Given the description of an element on the screen output the (x, y) to click on. 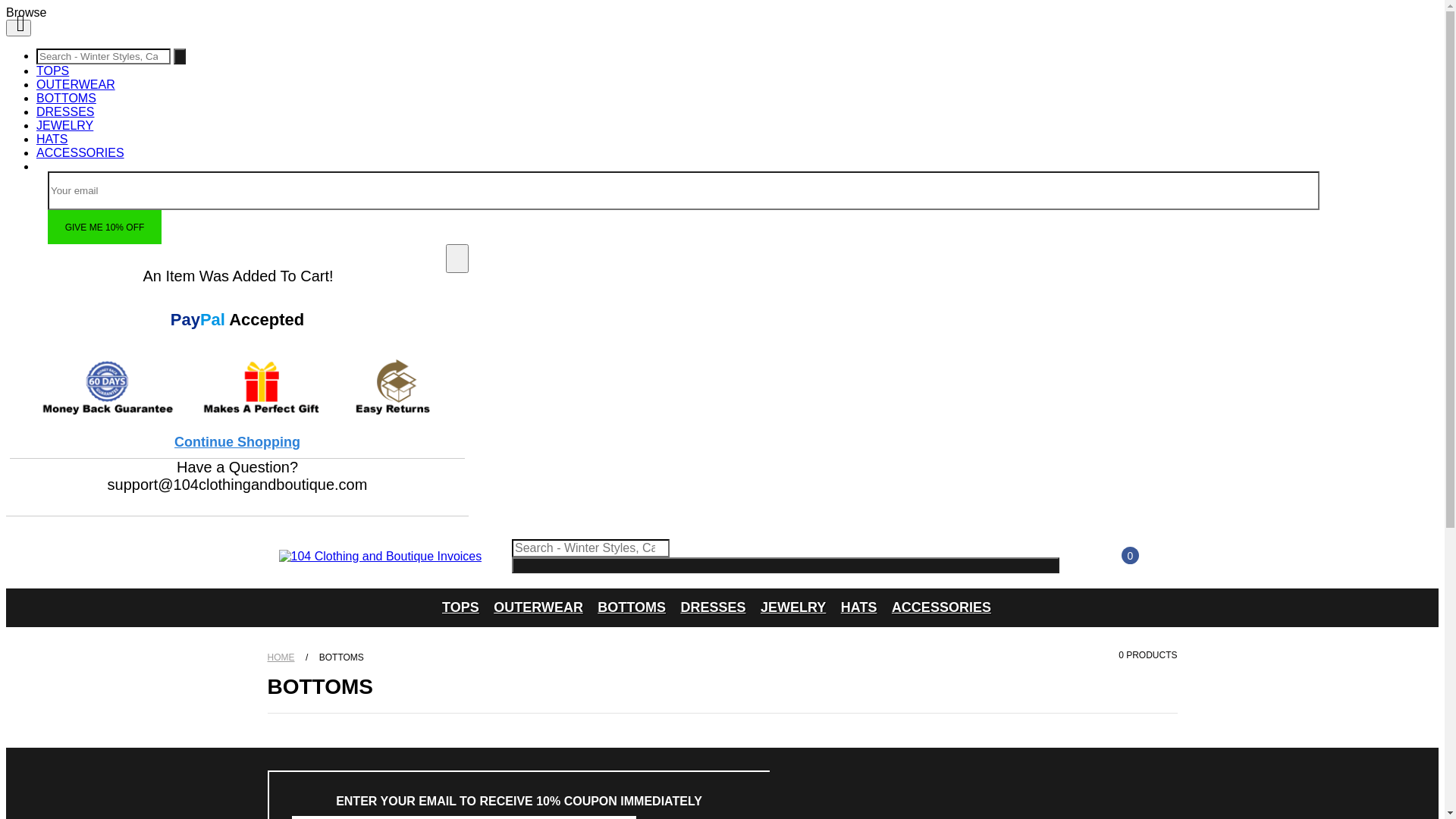
OUTERWEAR Element type: text (75, 84)
Close menu Element type: text (18, 27)
HOME Element type: text (282, 657)
DRESSES Element type: text (712, 607)
GIVE ME 10% OFF Element type: text (104, 227)
JEWELRY Element type: text (64, 125)
"Close Cart" Element type: text (456, 258)
ACCESSORIES Element type: text (80, 152)
ACCESSORIES Element type: text (941, 607)
Search Element type: text (785, 565)
HATS Element type: text (51, 138)
BOTTOMS Element type: text (66, 97)
OUTERWEAR Element type: text (538, 607)
Search Element type: text (179, 56)
TOPS Element type: text (460, 607)
HATS Element type: text (858, 607)
TOPS Element type: text (52, 70)
Continue Shopping Element type: text (236, 442)
JEWELRY Element type: text (792, 607)
DRESSES Element type: text (65, 111)
BOTTOMS Element type: text (631, 607)
